Given the description of an element on the screen output the (x, y) to click on. 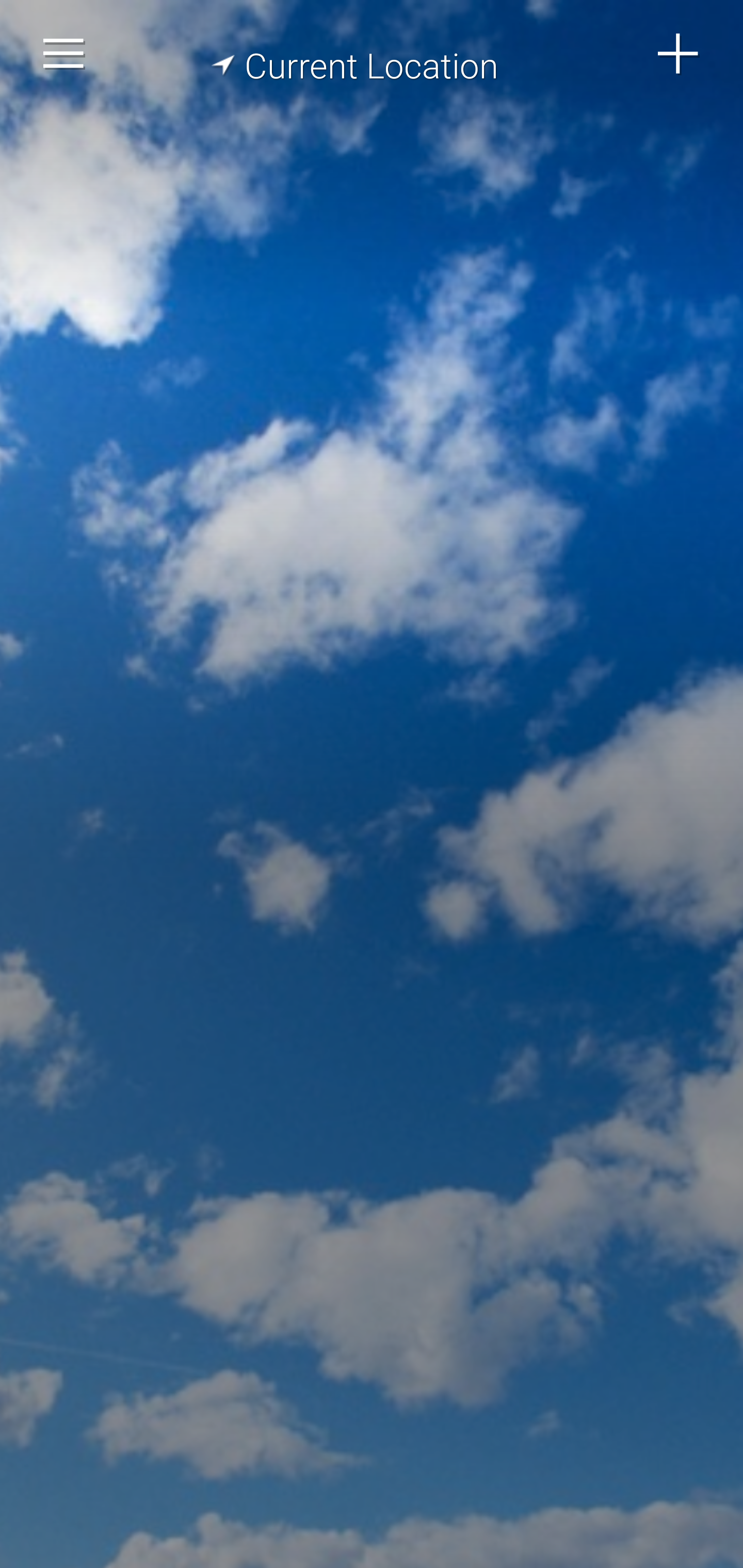
Sidebar (64, 54)
Add City (678, 53)
